Given the description of an element on the screen output the (x, y) to click on. 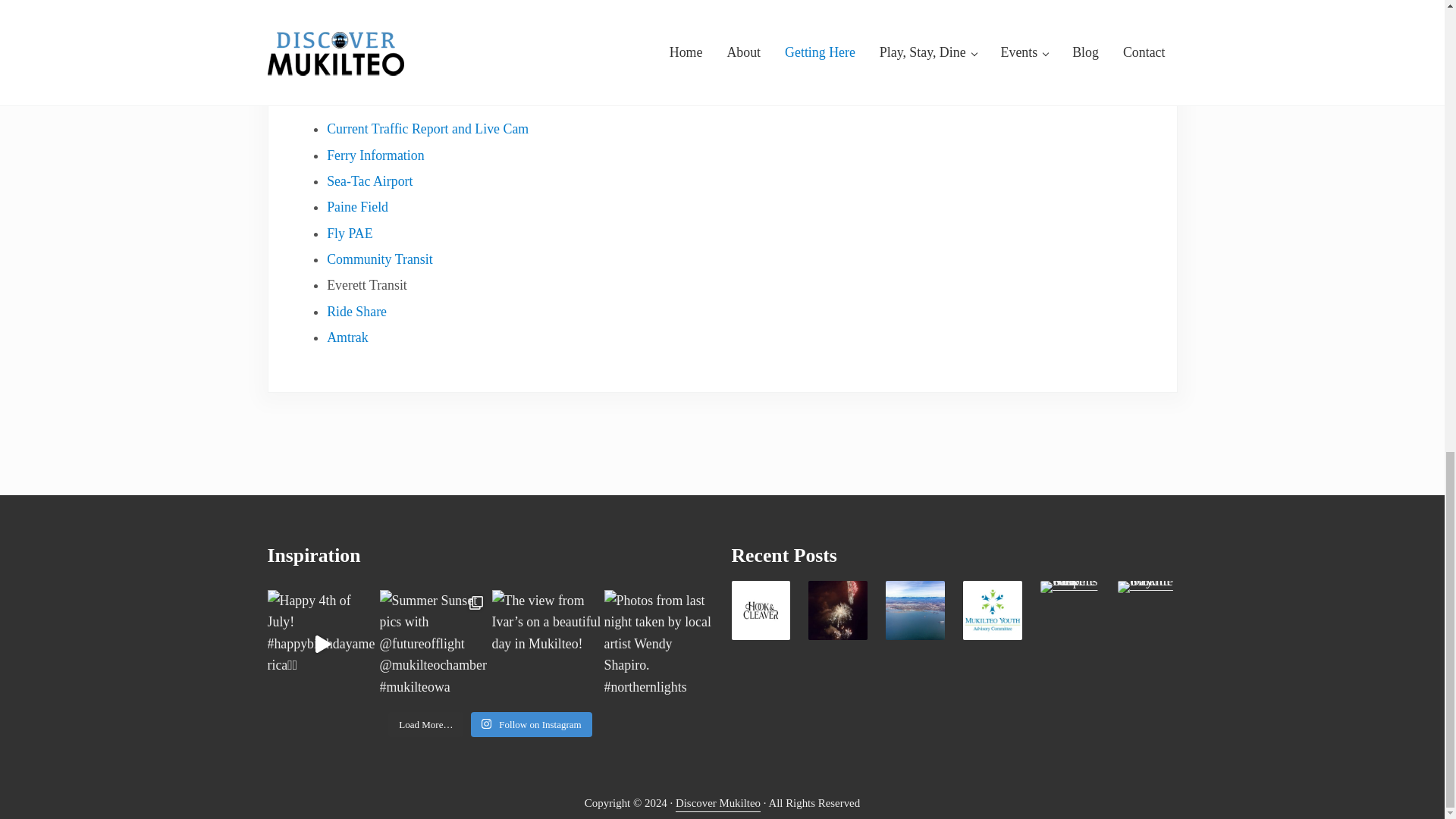
www.soundtransit.org (389, 34)
Ferry Information (374, 155)
Current Traffic Report and Live Cam (427, 128)
